Given the description of an element on the screen output the (x, y) to click on. 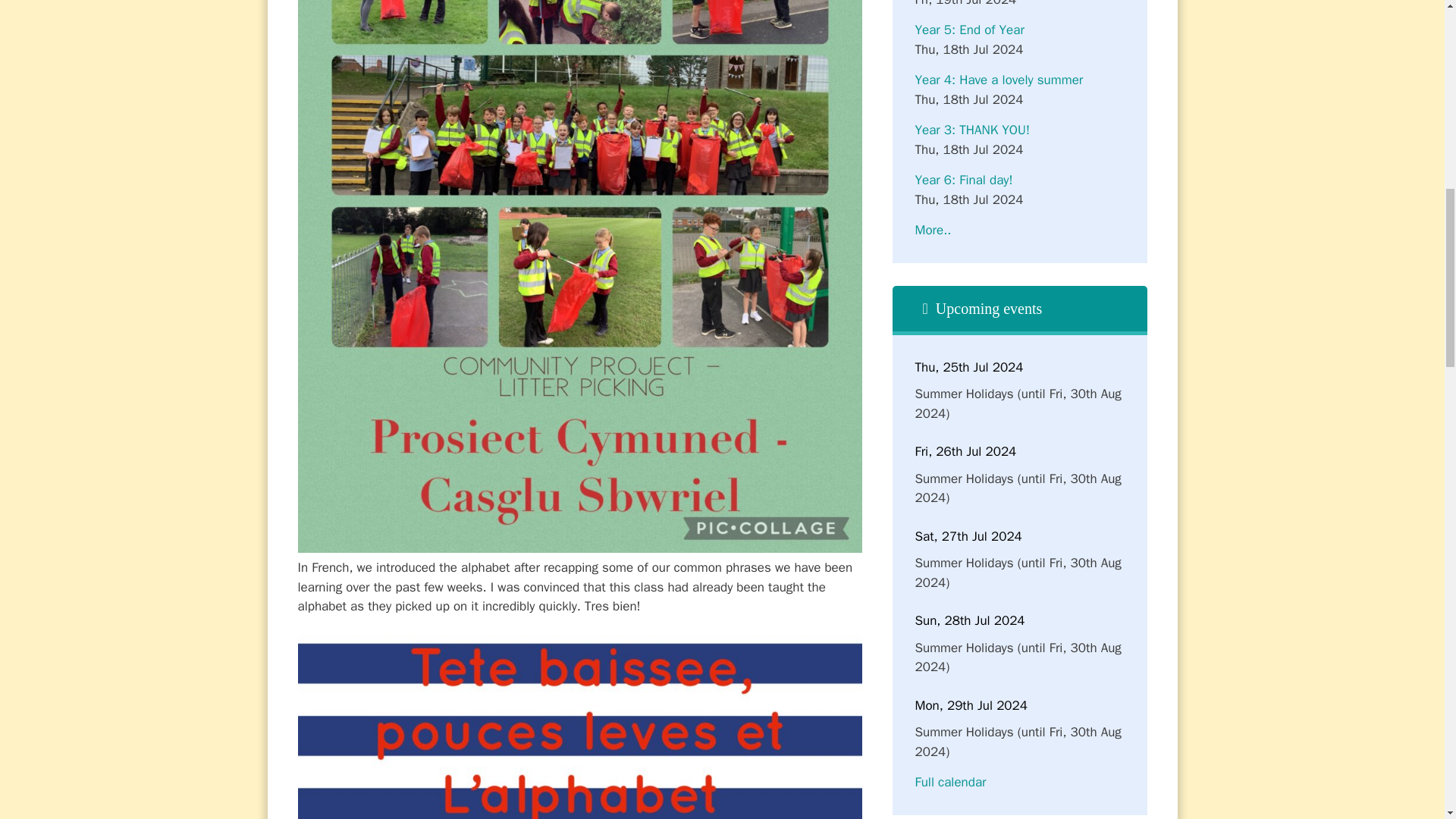
Year 5: End of Year (968, 29)
Year 4: Have a lovely summer (998, 79)
